Given the description of an element on the screen output the (x, y) to click on. 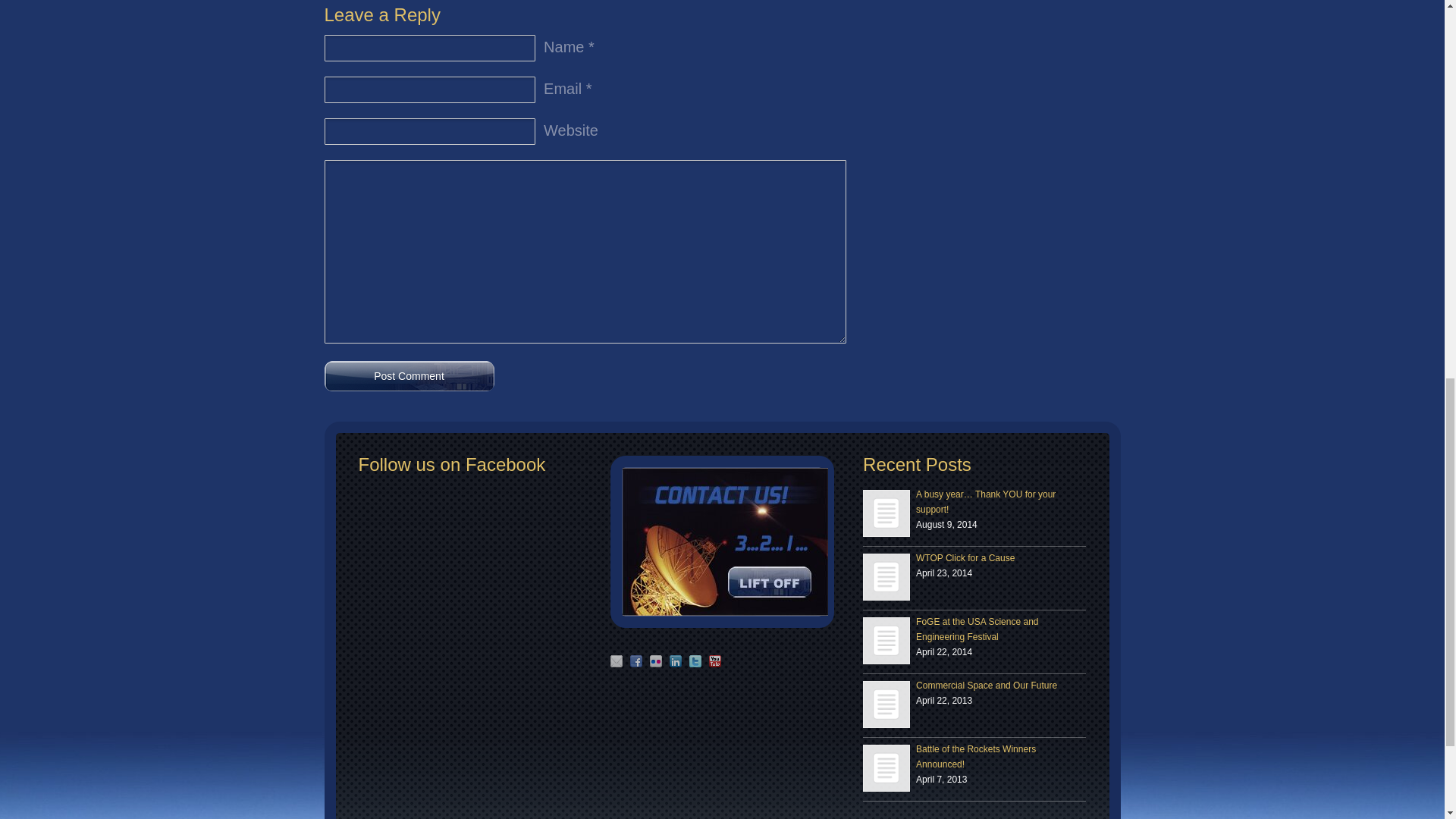
WTOP Click for a Cause (886, 576)
Post Comment (409, 376)
Follow Us on YouTube (714, 661)
Follow Us on Facebook (636, 661)
Follow Us on Email (616, 661)
Follow Us on Twitter (694, 661)
WTOP Click for a Cause (885, 576)
Follow Us on LinkedIn (675, 661)
Follow Us on Flickr (655, 661)
